Given the description of an element on the screen output the (x, y) to click on. 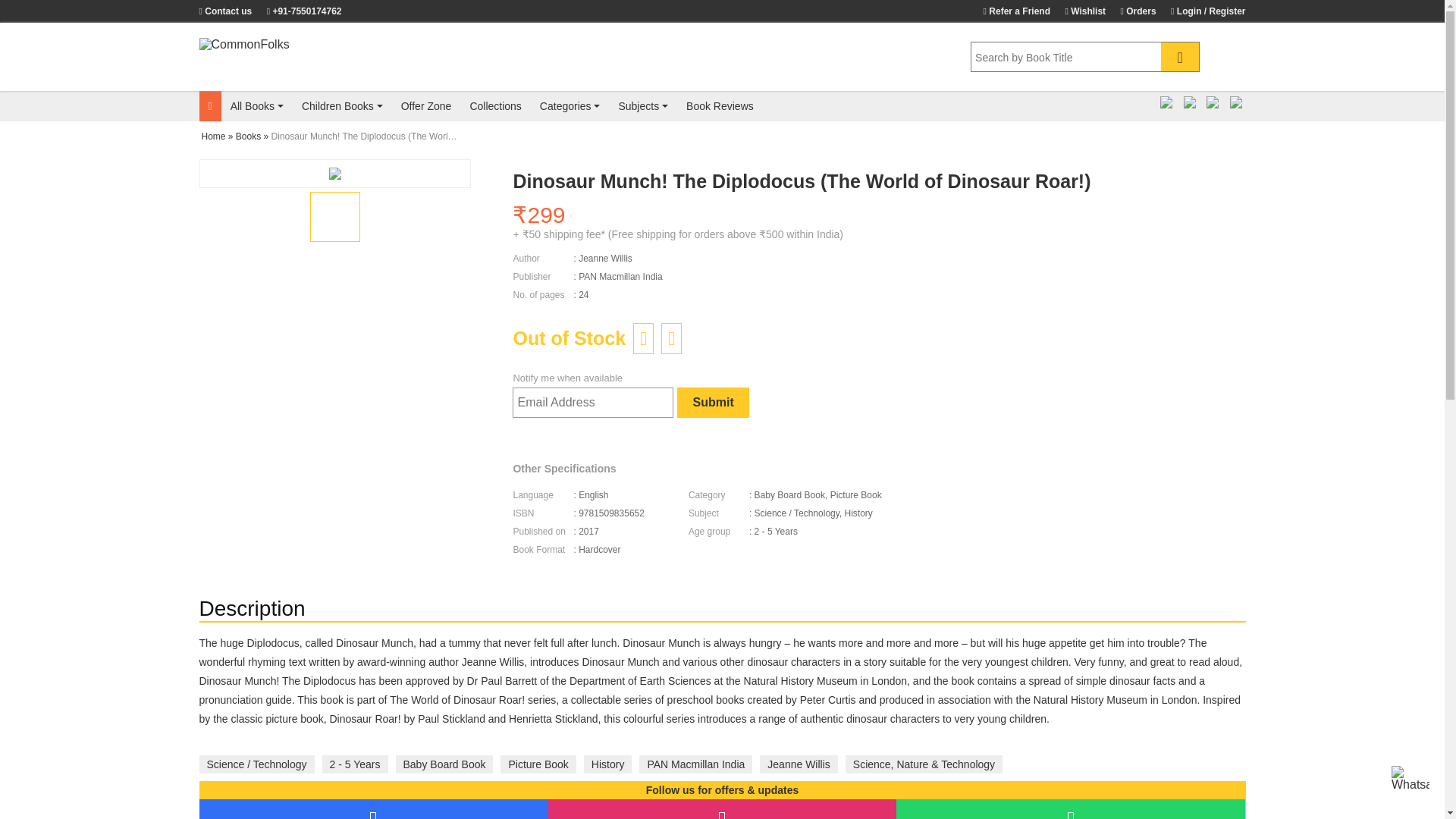
Orders (1132, 10)
Contact us (230, 10)
Refer a Friend (1010, 10)
Wishlist (1078, 10)
